Given the description of an element on the screen output the (x, y) to click on. 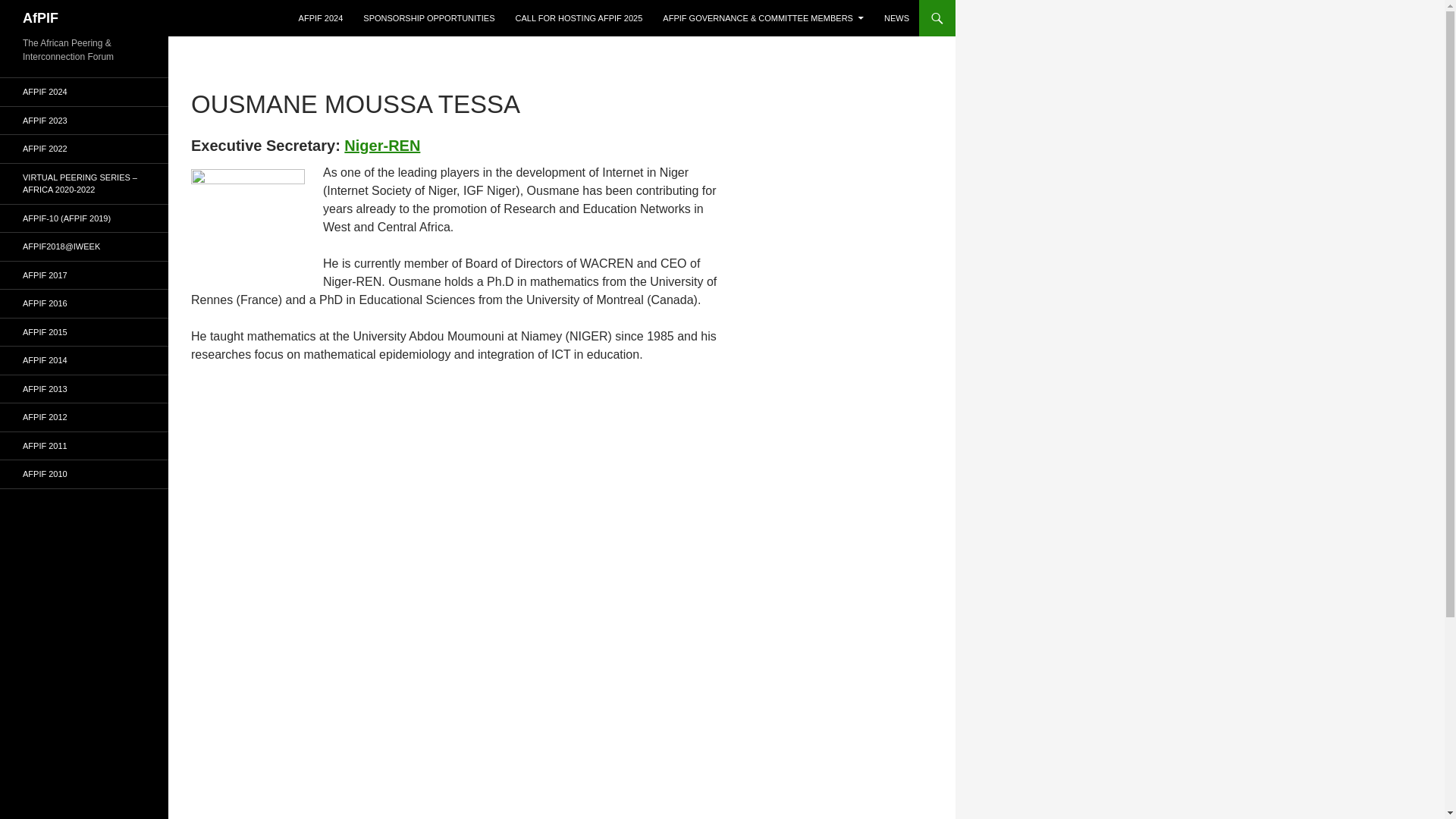
AFPIF 2012 (84, 417)
AFPIF 2016 (84, 303)
AfPIF (40, 18)
AFPIF 2022 (84, 148)
AFPIF 2017 (84, 275)
AFPIF 2010 (84, 474)
Niger-REN (381, 145)
AFPIF 2013 (84, 388)
AFPIF 2014 (84, 360)
SPONSORSHIP OPPORTUNITIES (428, 18)
